Given the description of an element on the screen output the (x, y) to click on. 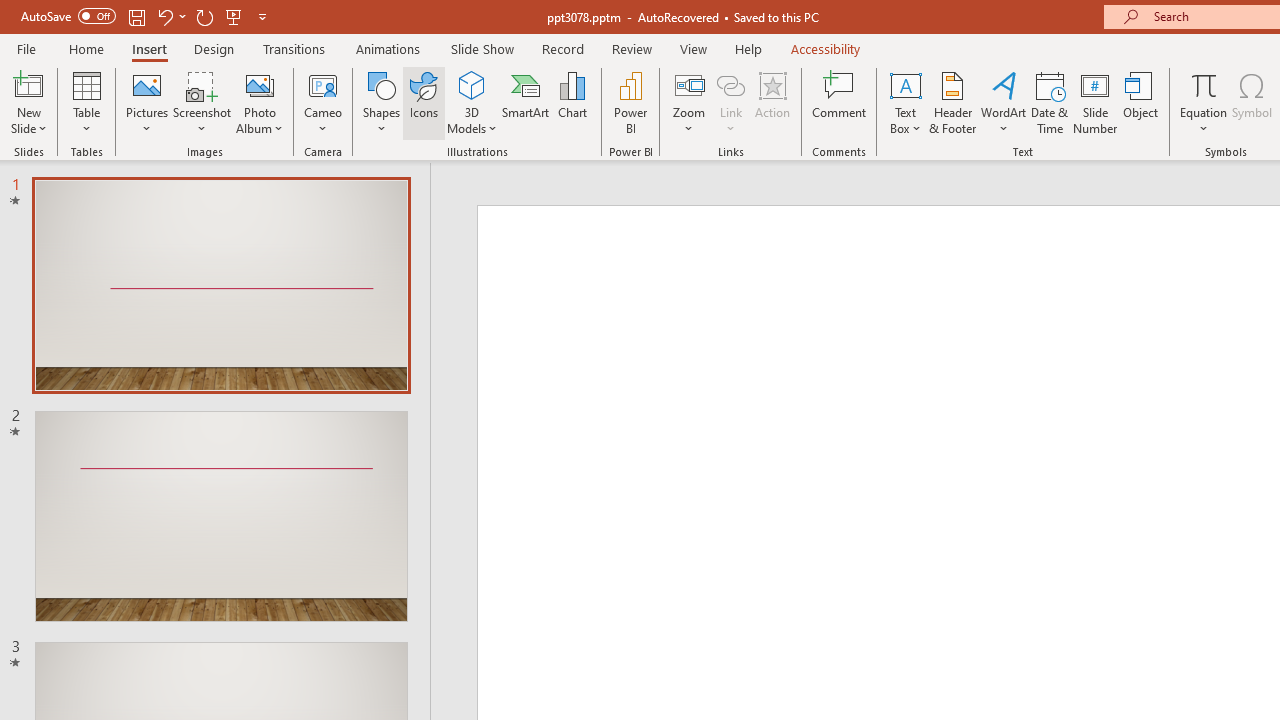
Pictures (147, 102)
Header & Footer... (952, 102)
WordArt (1004, 102)
3D Models (472, 102)
Date & Time... (1050, 102)
